Given the description of an element on the screen output the (x, y) to click on. 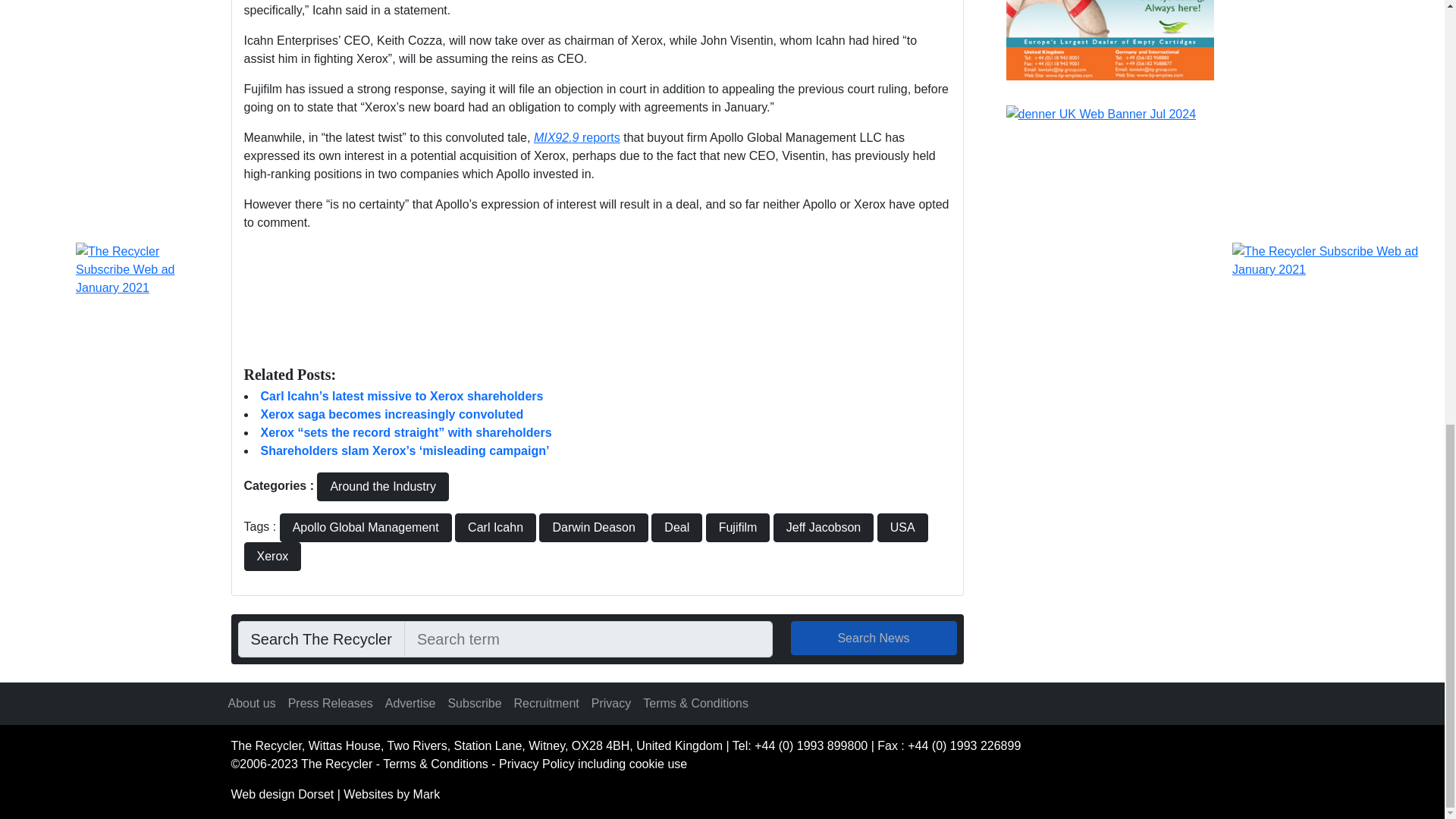
Search News (873, 637)
Search for: (588, 638)
Jeff Jacobson Tag (823, 527)
MIX92.9 reports (577, 137)
USA Tag (902, 527)
Around the Industry (382, 486)
Darwin Deason Tag (592, 527)
Apollo Global Management (365, 527)
Fujifilm Tag (738, 527)
Xerox saga becomes increasingly convoluted (392, 413)
Deal Tag (675, 527)
Carl Icahn Tag (494, 527)
Apollo Global Management Tag (365, 527)
Xerox saga becomes increasingly convoluted (392, 413)
Xerox Tag (272, 556)
